Given the description of an element on the screen output the (x, y) to click on. 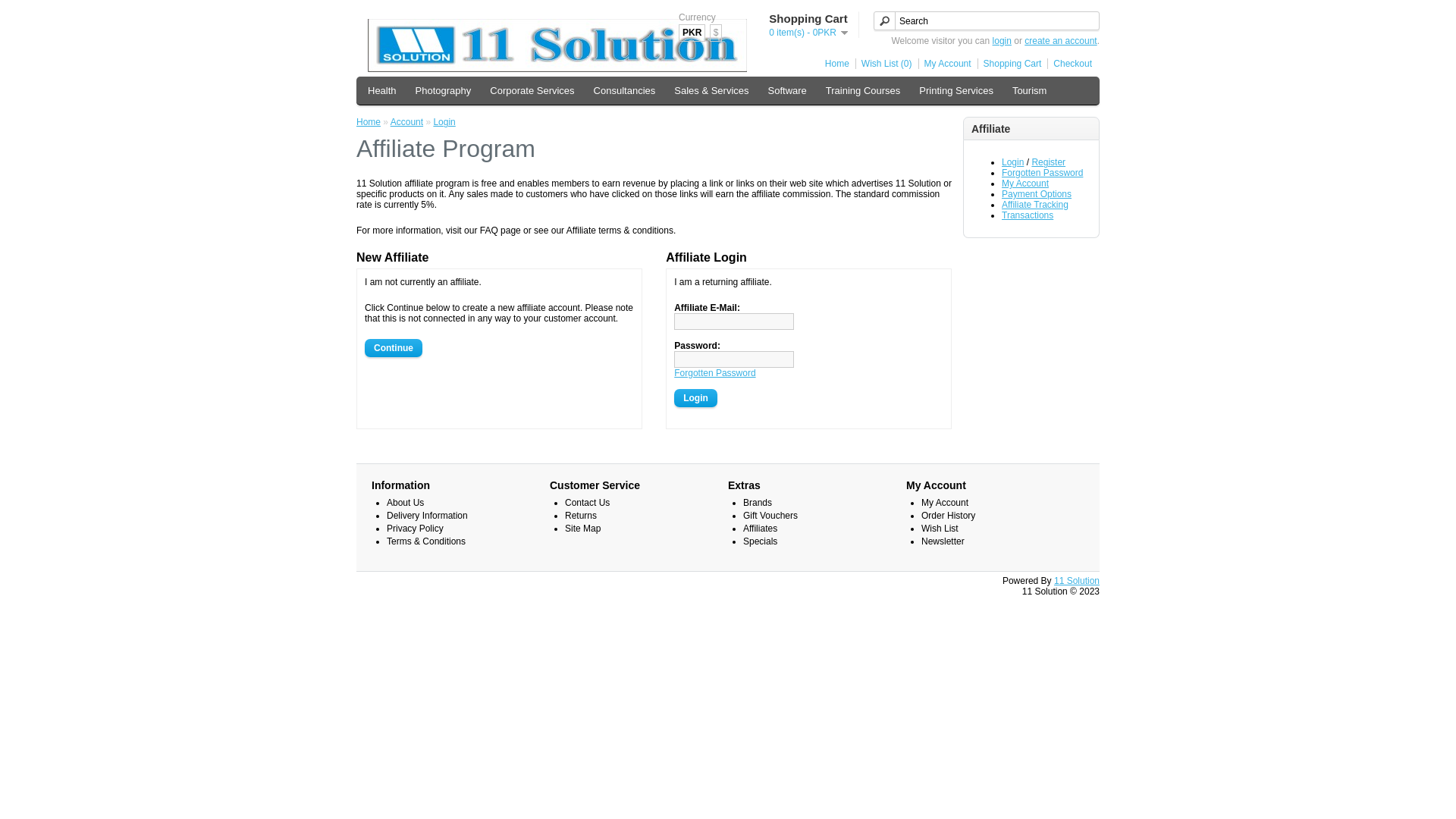
Health Element type: text (382, 90)
Site Map Element type: text (582, 528)
Forgotten Password Element type: text (714, 372)
Account Element type: text (406, 121)
create an account Element type: text (1060, 40)
Wish List Element type: text (939, 528)
Affiliate Tracking Element type: text (1034, 204)
Brands Element type: text (757, 502)
11 Solution Element type: hover (556, 45)
My Account Element type: text (1024, 183)
Home Element type: text (368, 121)
Terms & Conditions Element type: text (425, 541)
Search Element type: text (986, 20)
Sales & Services Element type: text (711, 90)
My Account Element type: text (944, 502)
Login Element type: text (444, 121)
Newsletter Element type: text (942, 541)
Home Element type: text (834, 63)
Affiliates Element type: text (760, 528)
My Account Element type: text (944, 63)
Login Element type: text (695, 398)
$ Element type: text (715, 32)
login Element type: text (1001, 40)
Gift Vouchers Element type: text (770, 515)
Checkout Element type: text (1069, 63)
Privacy Policy Element type: text (414, 528)
Training Courses Element type: text (863, 90)
Consultancies Element type: text (624, 90)
Shopping Cart Element type: text (1009, 63)
Wish List (0) Element type: text (883, 63)
Software Element type: text (787, 90)
Register Element type: text (1048, 161)
Order History Element type: text (948, 515)
Contact Us Element type: text (586, 502)
Printing Services Element type: text (956, 90)
PKR Element type: text (691, 32)
About Us Element type: text (404, 502)
Login Element type: text (1012, 161)
Corporate Services Element type: text (531, 90)
11 Solution Element type: text (1076, 580)
Specials Element type: text (760, 541)
Payment Options Element type: text (1036, 193)
0 item(s) - 0PKR Element type: text (807, 32)
Tourism Element type: text (1029, 90)
Photography Element type: text (443, 90)
Continue Element type: text (393, 347)
Forgotten Password Element type: text (1041, 172)
Returns Element type: text (580, 515)
Delivery Information Element type: text (426, 515)
Transactions Element type: text (1027, 215)
